Given the description of an element on the screen output the (x, y) to click on. 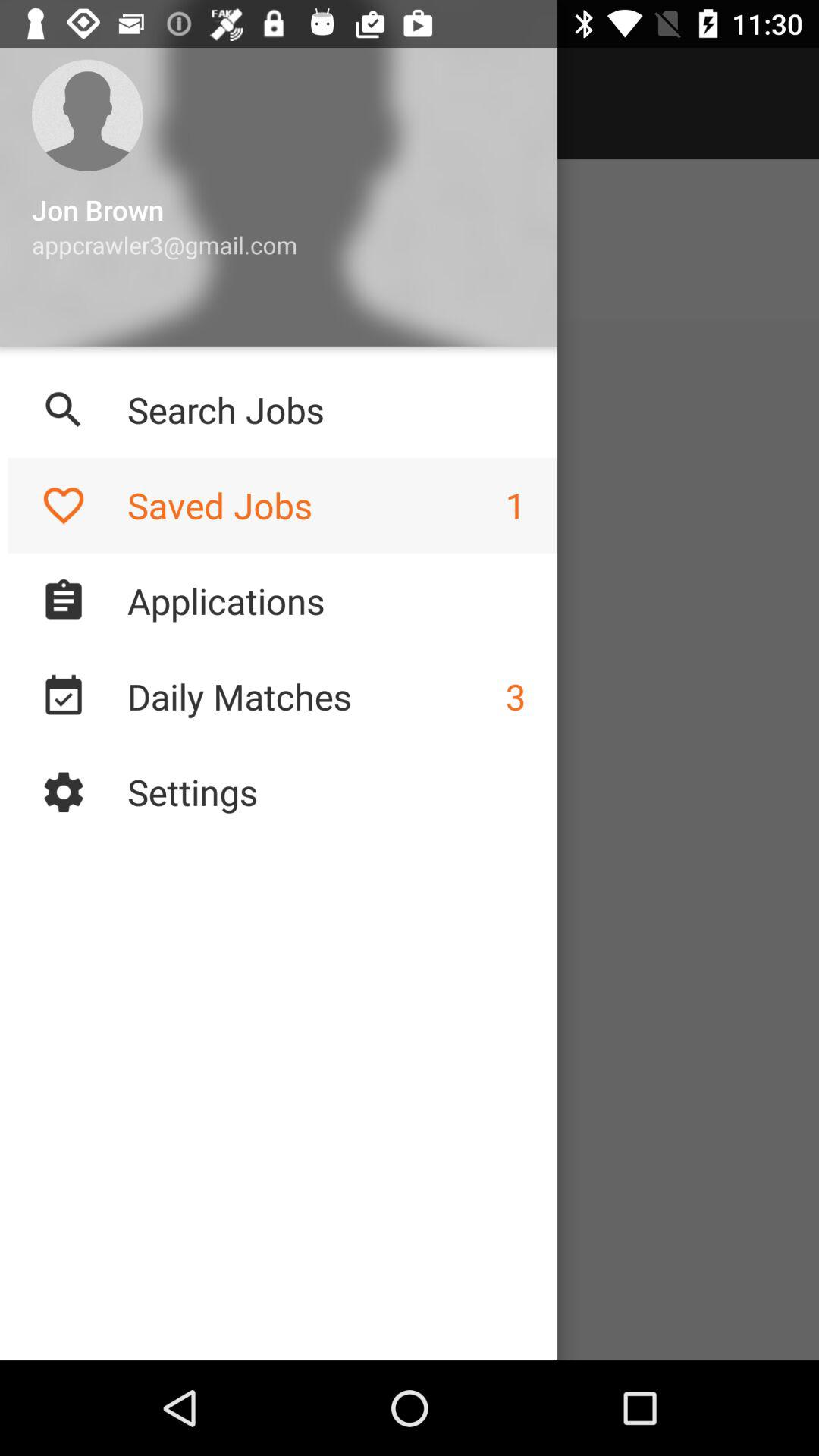
tap on the search icon (63, 409)
click on the third option (63, 600)
